Given the description of an element on the screen output the (x, y) to click on. 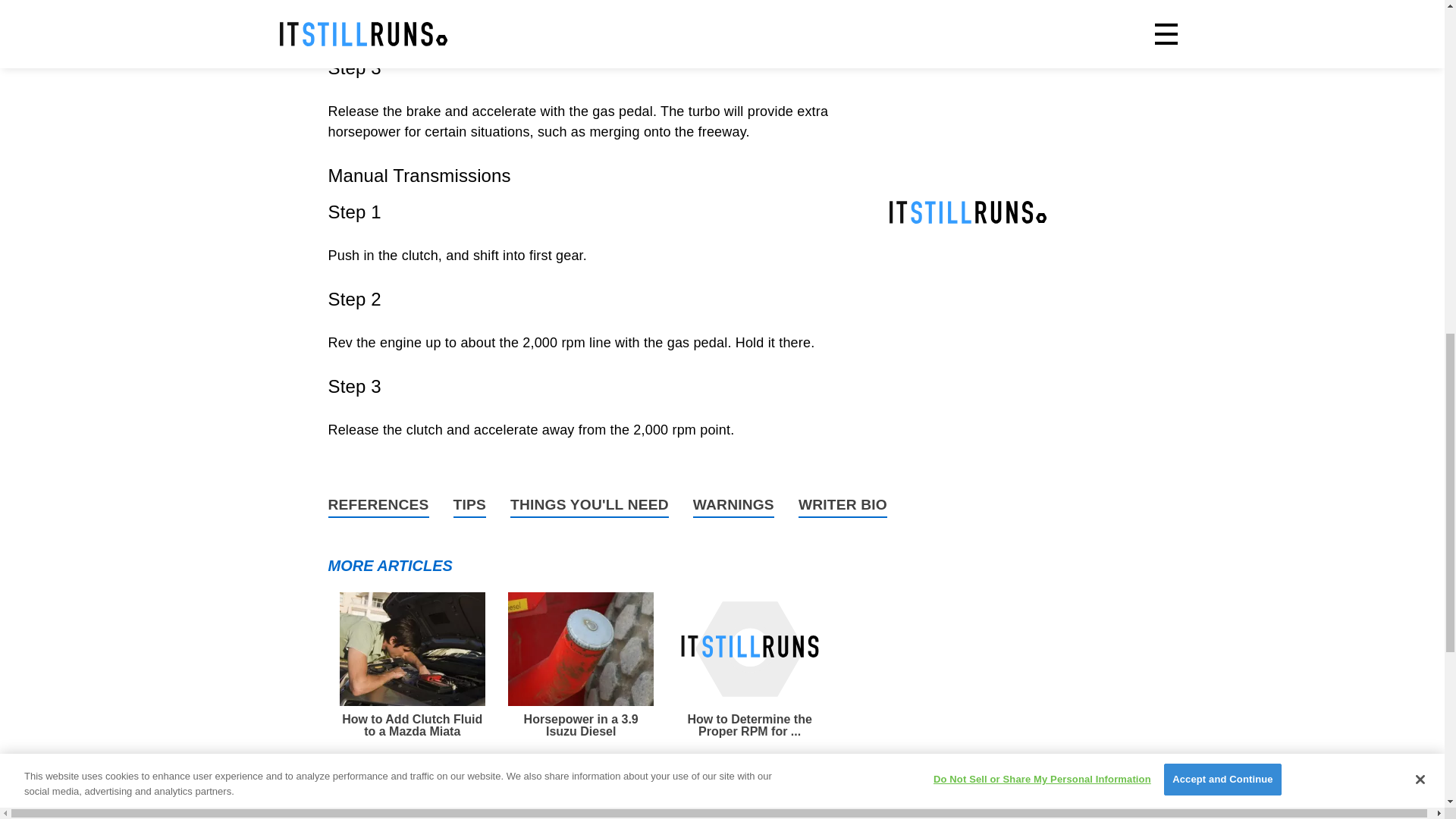
How to Determine the Proper RPM for ... (749, 664)
Yes (676, 804)
No (752, 804)
Horsepower in a 3.9 Isuzu Diesel (580, 664)
How to Add Clutch Fluid to a Mazda Miata (411, 664)
